Given the description of an element on the screen output the (x, y) to click on. 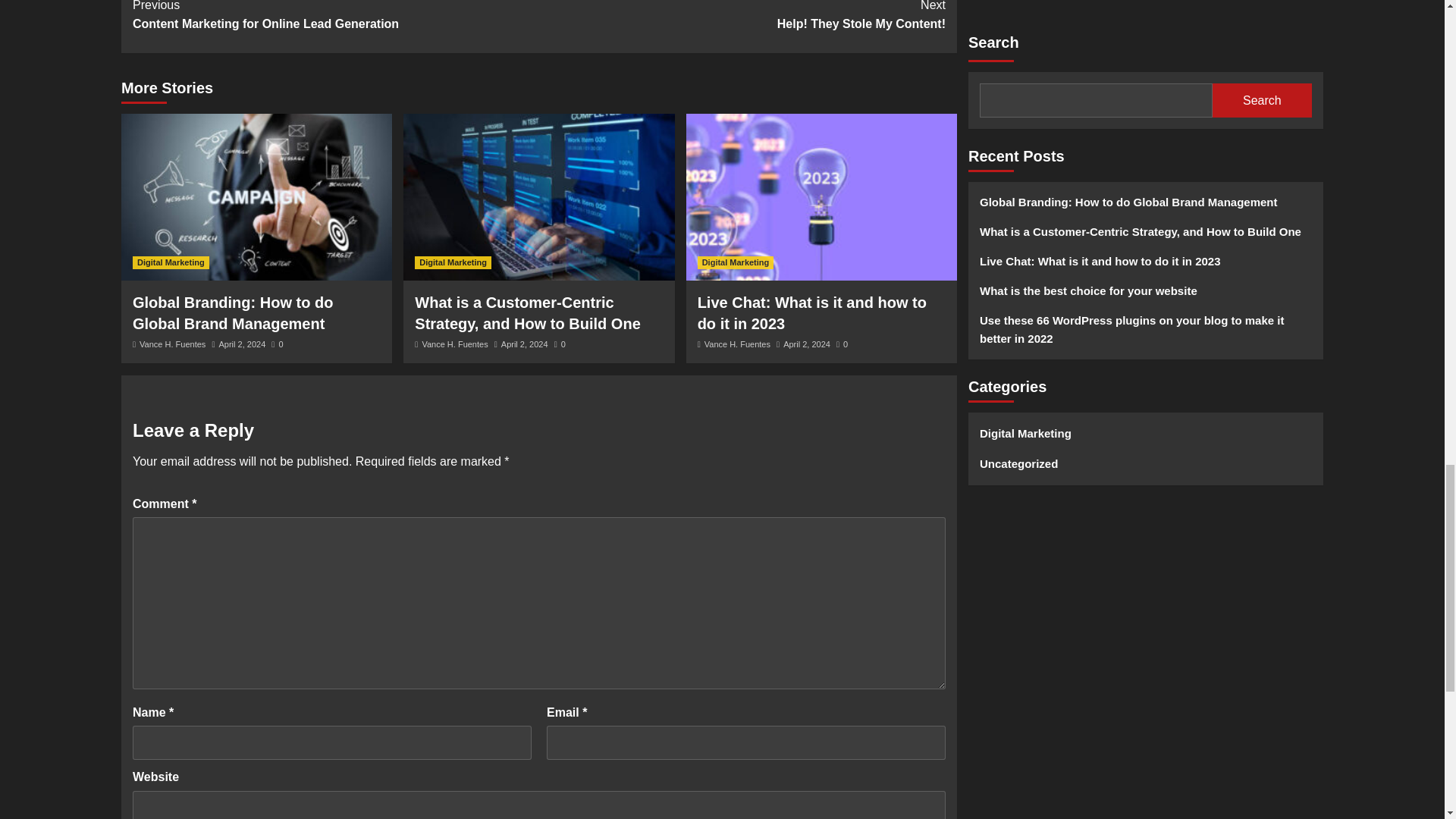
April 2, 2024 (806, 343)
What is a Customer-Centric Strategy, and How to Build One (527, 313)
Vance H. Fuentes (737, 343)
Digital Marketing (741, 17)
0 (170, 262)
0 (560, 343)
0 (841, 343)
Digital Marketing (276, 343)
Live Chat: What is it and how to do it in 2023 (453, 262)
